Given the description of an element on the screen output the (x, y) to click on. 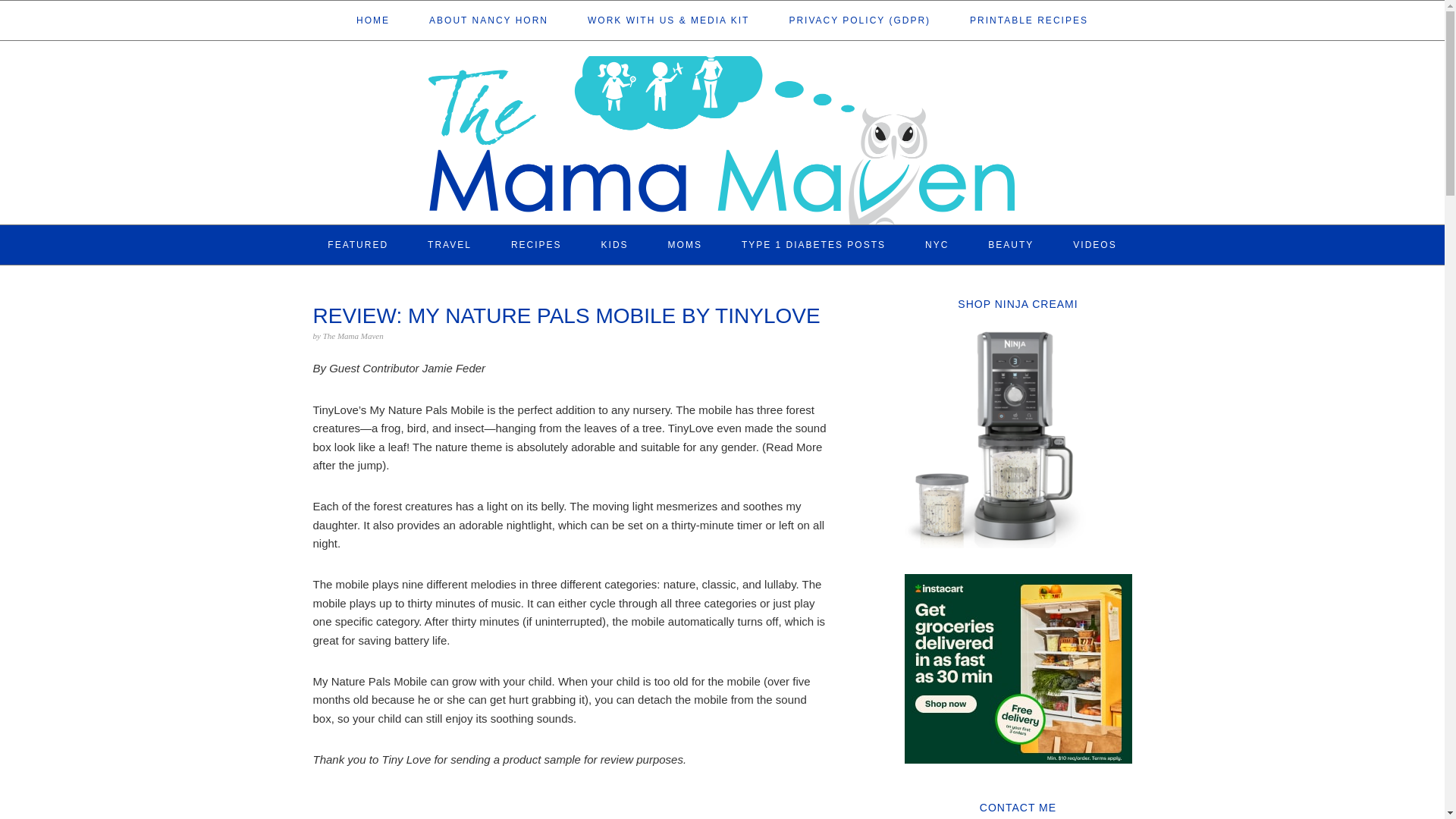
MOMS (684, 244)
PRINTABLE RECIPES (1028, 20)
HOME (373, 20)
TRAVEL (449, 244)
BEAUTY (1010, 244)
FEATURED (357, 244)
ABOUT NANCY HORN (488, 20)
RECIPES (536, 244)
KIDS (614, 244)
